Given the description of an element on the screen output the (x, y) to click on. 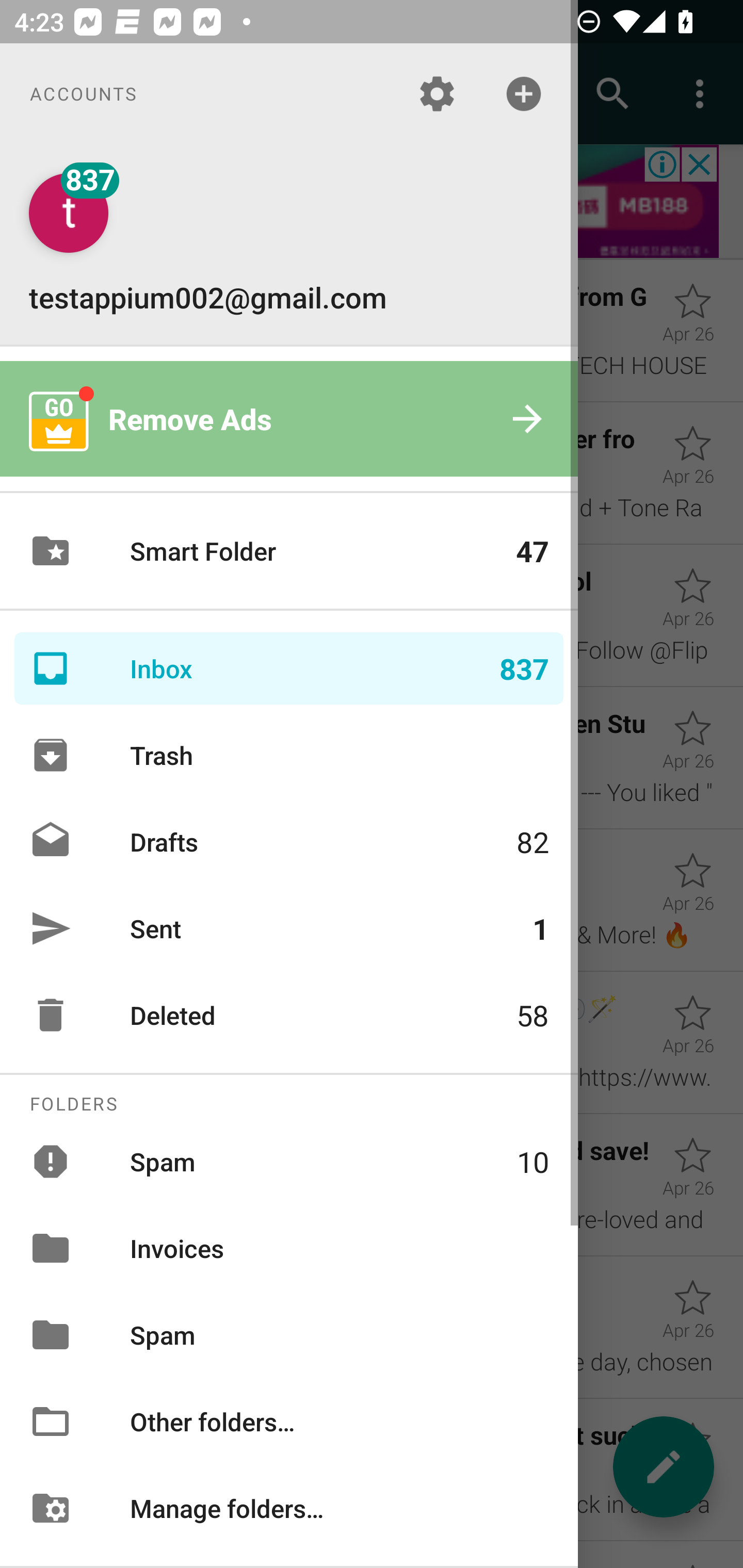
testappium002@gmail.com (289, 244)
Remove Ads (289, 418)
Smart Folder 47 (289, 551)
Inbox 837 (289, 668)
Trash (289, 754)
Drafts 82 (289, 841)
Sent 1 (289, 928)
Deleted 58 (289, 1015)
Spam 10 (289, 1160)
Invoices (289, 1248)
Spam (289, 1335)
Other folders… (289, 1421)
Manage folders… (289, 1507)
